Given the description of an element on the screen output the (x, y) to click on. 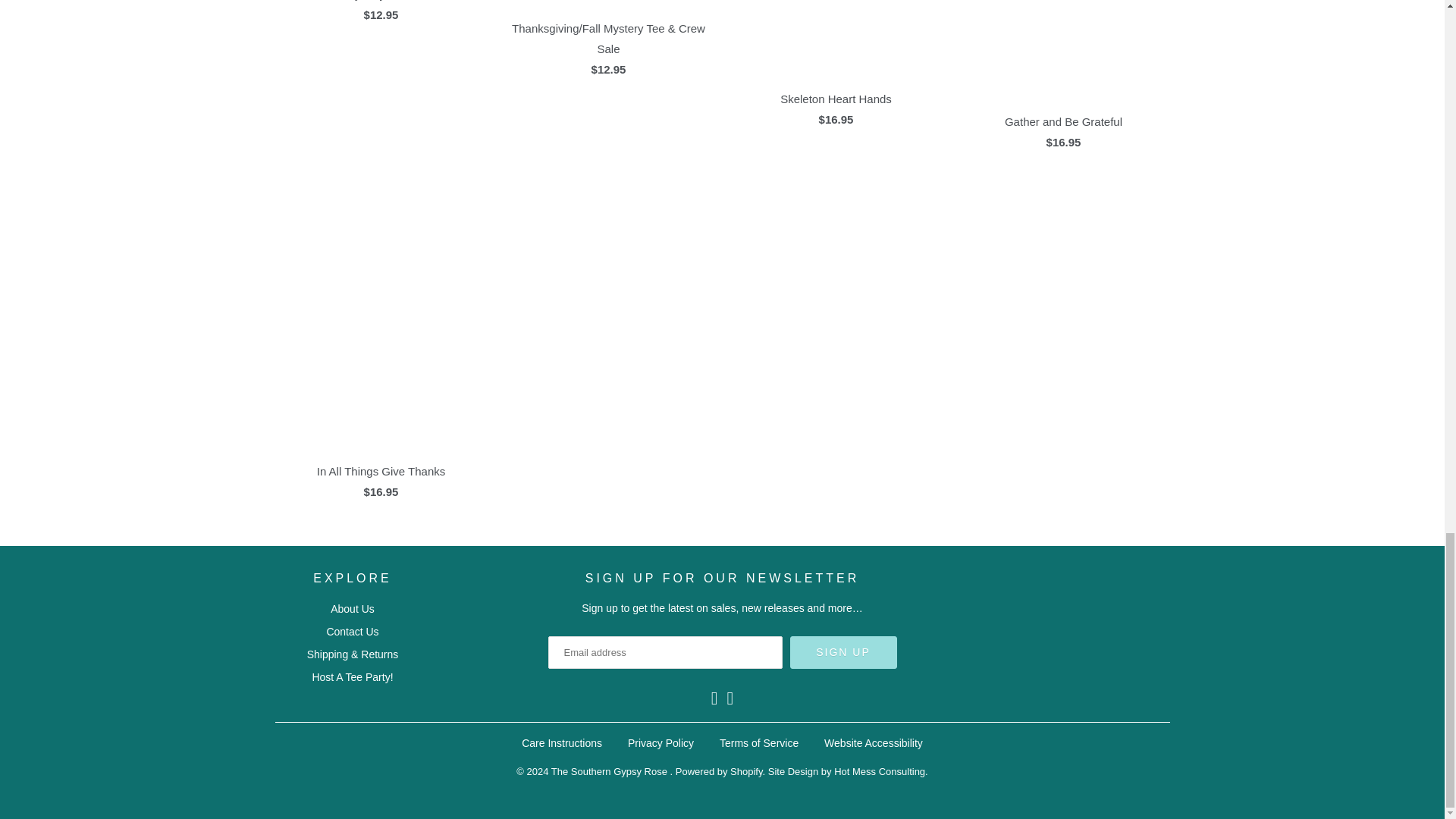
Sign Up (843, 652)
